Given the description of an element on the screen output the (x, y) to click on. 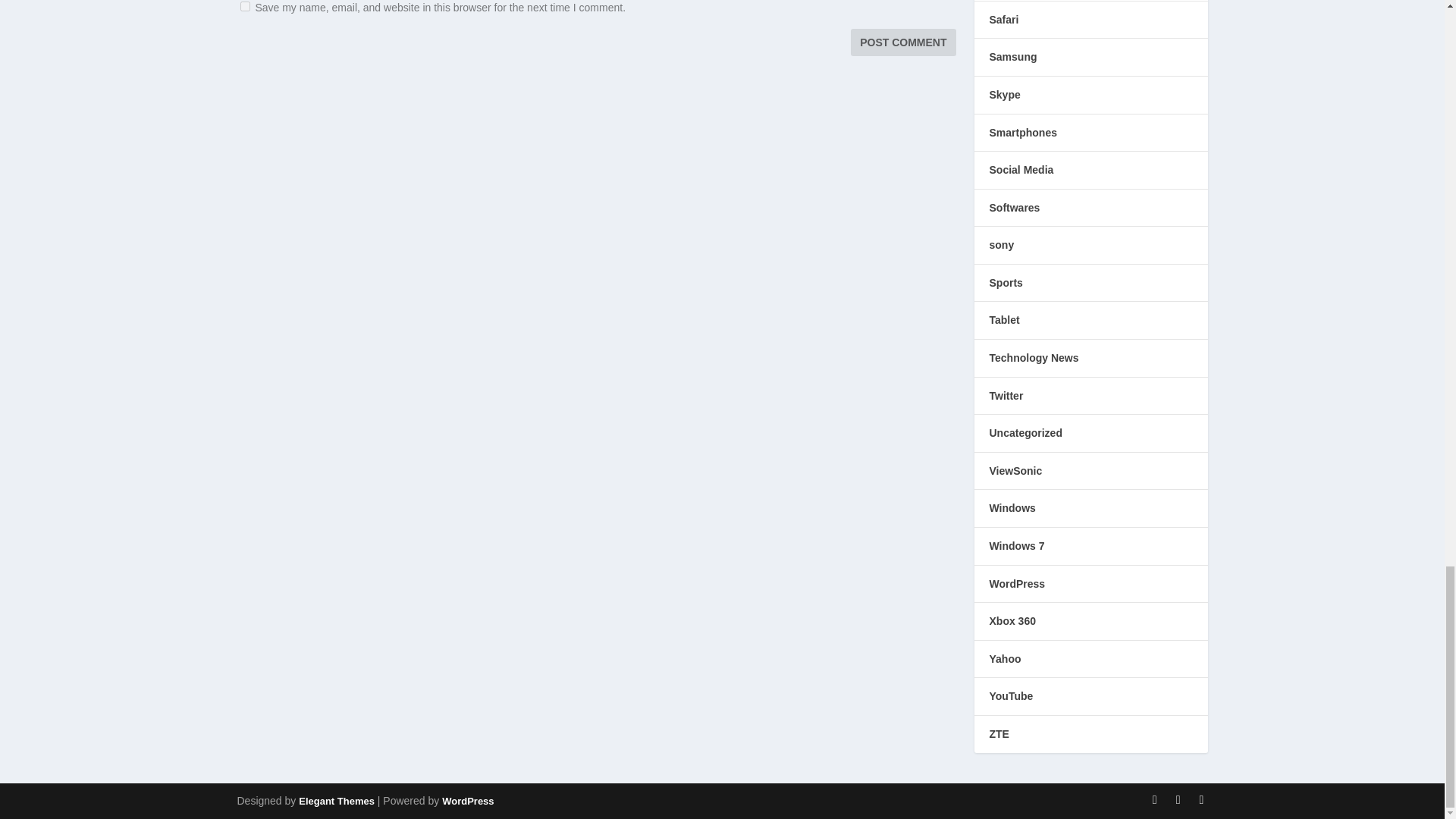
yes (244, 6)
Post Comment (902, 42)
Post Comment (902, 42)
